Given the description of an element on the screen output the (x, y) to click on. 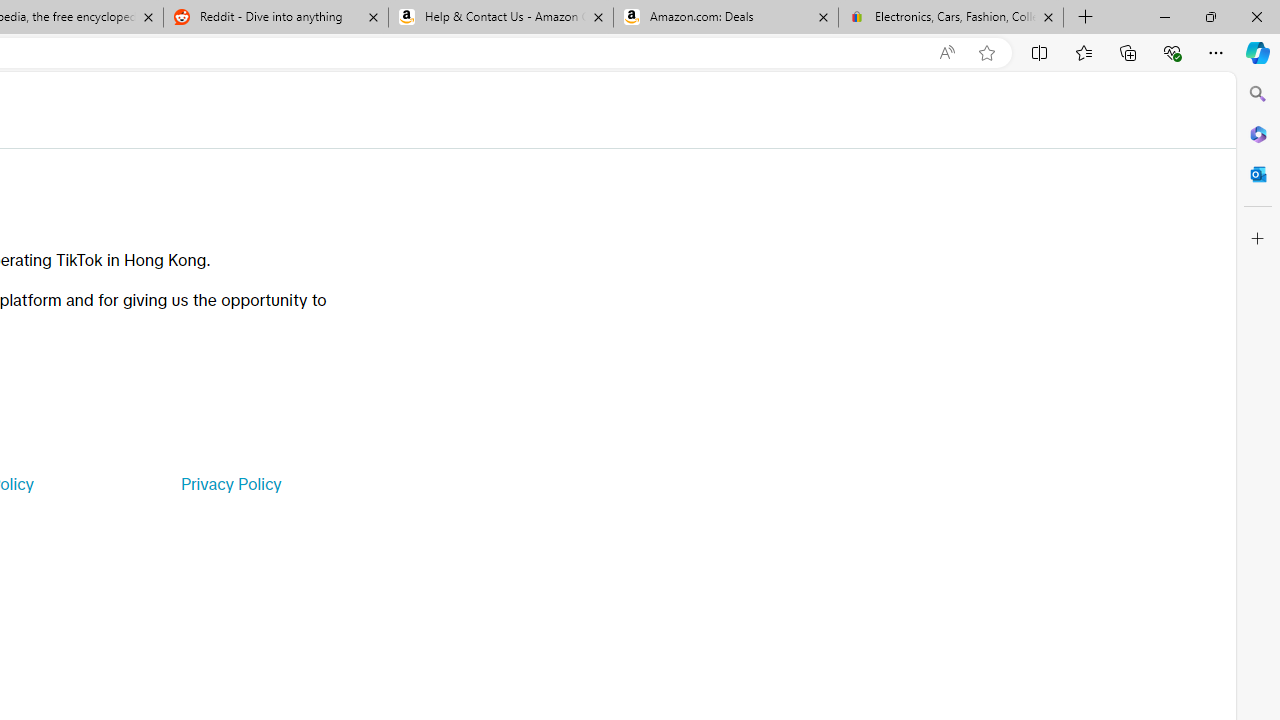
Privacy Policy (230, 484)
